Given the description of an element on the screen output the (x, y) to click on. 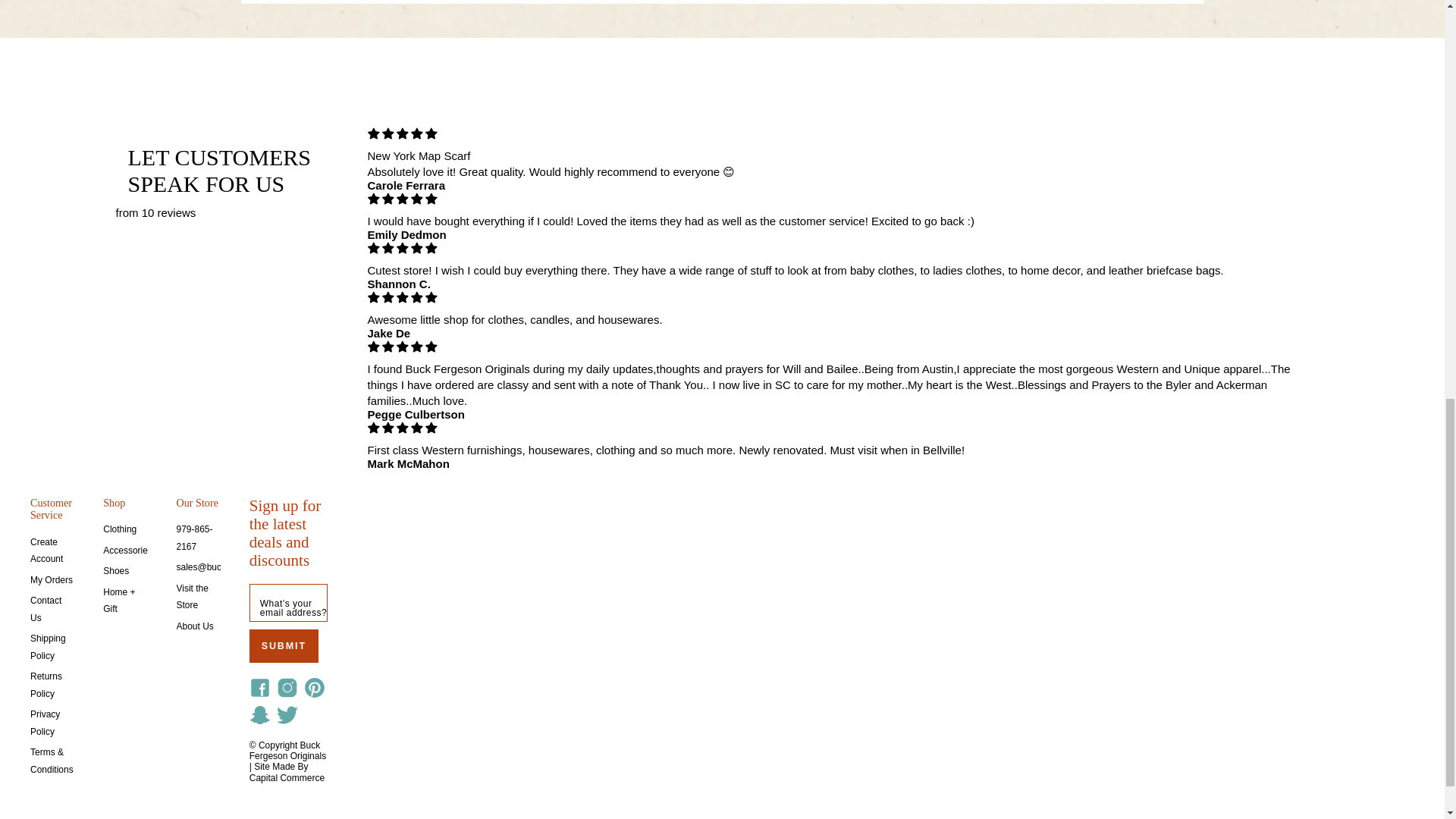
Snapchat (259, 714)
Instagram (287, 687)
Facebook (259, 687)
Pinterest (315, 687)
Twitter (287, 714)
